Given the description of an element on the screen output the (x, y) to click on. 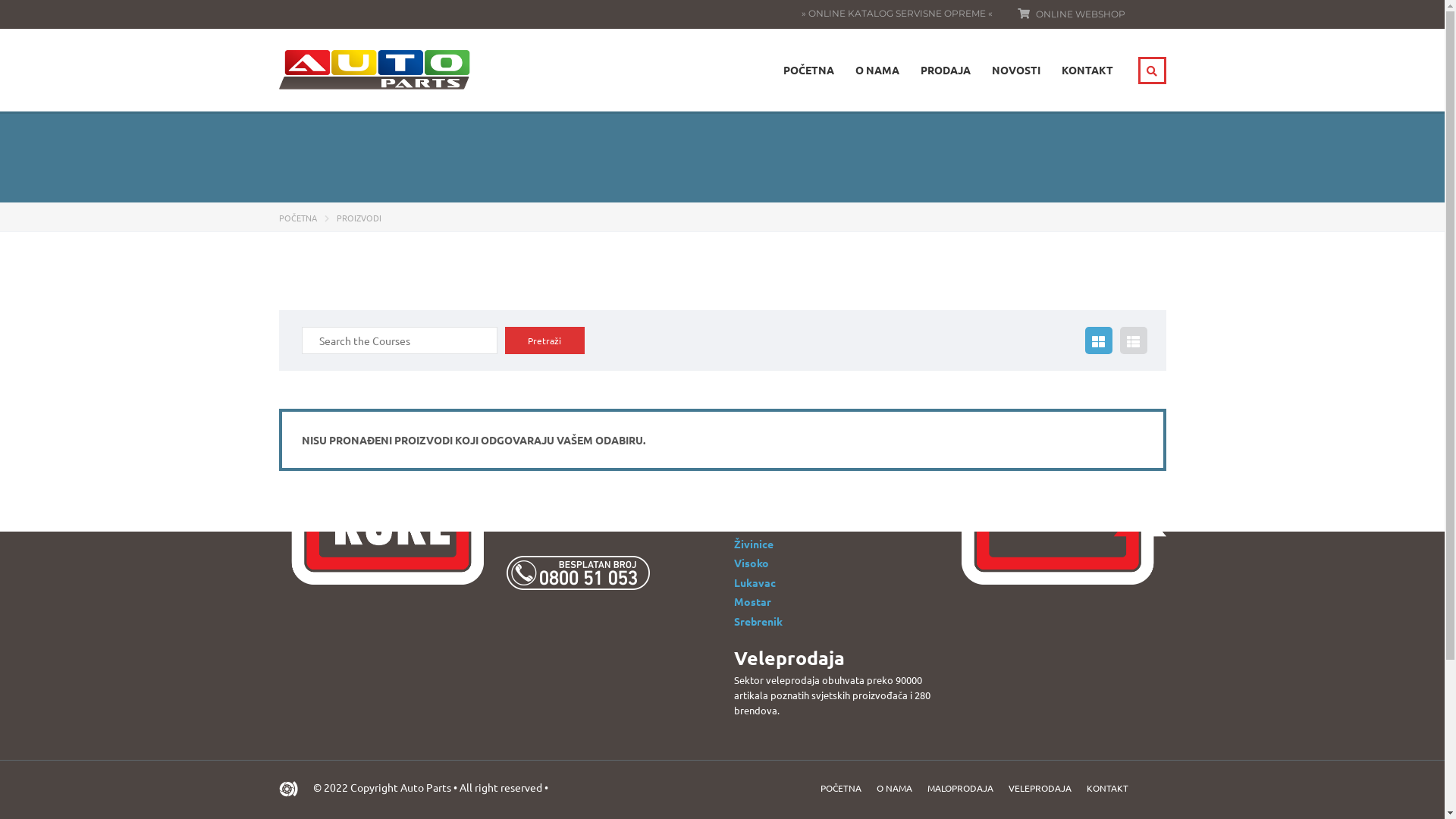
Zenica Element type: text (750, 504)
Sarajevo Element type: text (756, 524)
Srebrenik Element type: text (758, 620)
MALOPRODAJA Element type: text (959, 787)
PRODAJA Element type: text (945, 69)
Tuzla Element type: text (747, 428)
ONLINE WEBSHOP Element type: text (1080, 13)
Pale Element type: text (745, 447)
Mostar Element type: text (752, 601)
Visoko Element type: text (751, 562)
O NAMA Element type: text (894, 787)
O NAMA Element type: text (877, 69)
KONTAKT Element type: text (1106, 787)
Bugojno Element type: text (754, 466)
NOVOSTI Element type: text (1015, 69)
Lukavac Element type: text (754, 582)
Search for: Element type: hover (399, 340)
VELEPRODAJA Element type: text (1039, 787)
KONTAKT Element type: text (1087, 69)
